Given the description of an element on the screen output the (x, y) to click on. 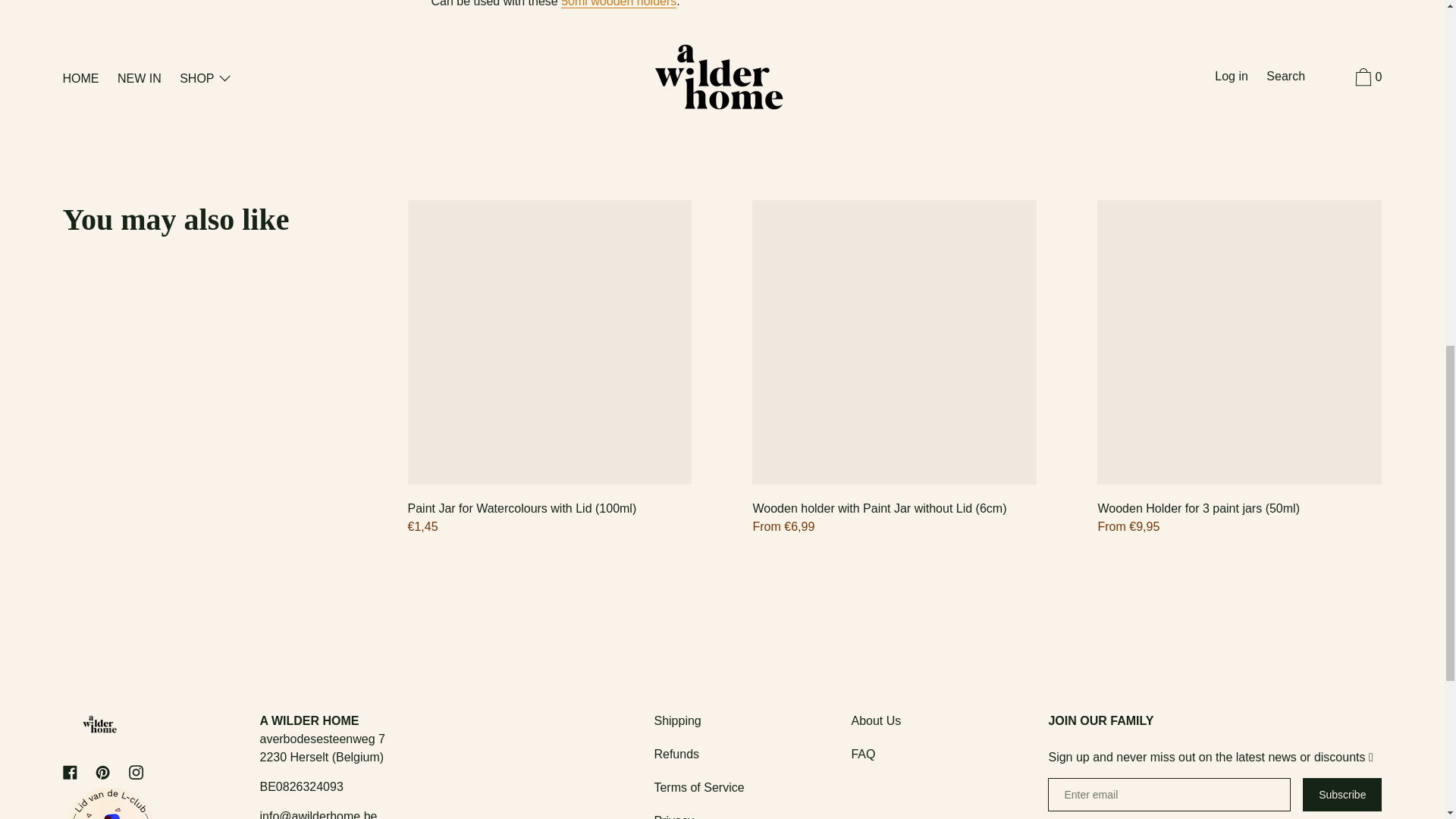
A Wilder Home on Facebook (69, 771)
A Wilder Home on Instagram (135, 771)
A Wilder Home on Pinterest (102, 771)
